Given the description of an element on the screen output the (x, y) to click on. 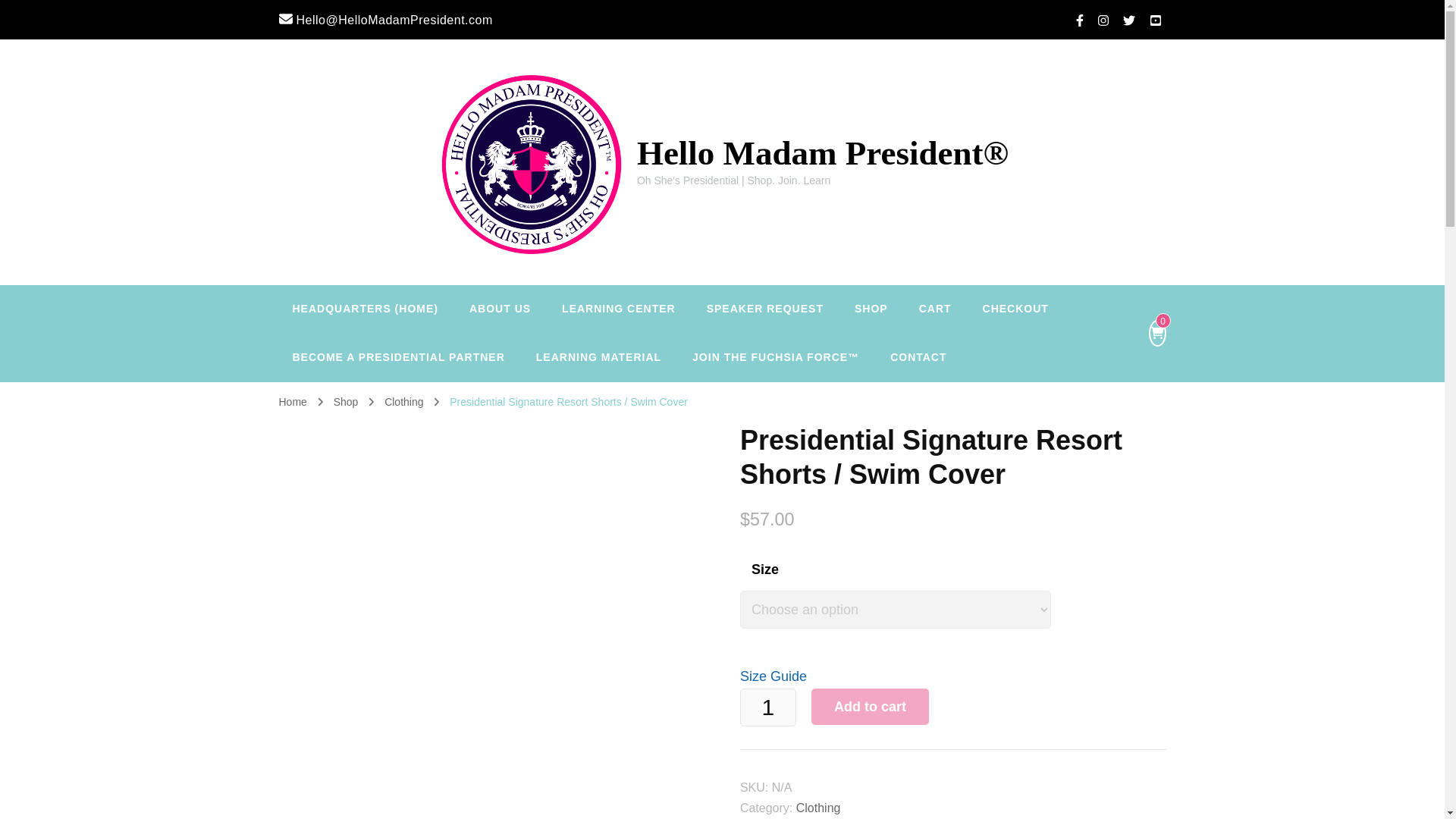
Clothing (394, 401)
SHOP (871, 309)
LEARNING CENTER (618, 309)
CART (935, 309)
BECOME A PRESIDENTIAL PARTNER (398, 357)
Shop (341, 401)
ABOUT US (499, 309)
SPEAKER REQUEST (765, 309)
LEARNING MATERIAL (598, 357)
Home (293, 401)
CHECKOUT (1015, 309)
1 (767, 706)
CONTACT (917, 357)
